Given the description of an element on the screen output the (x, y) to click on. 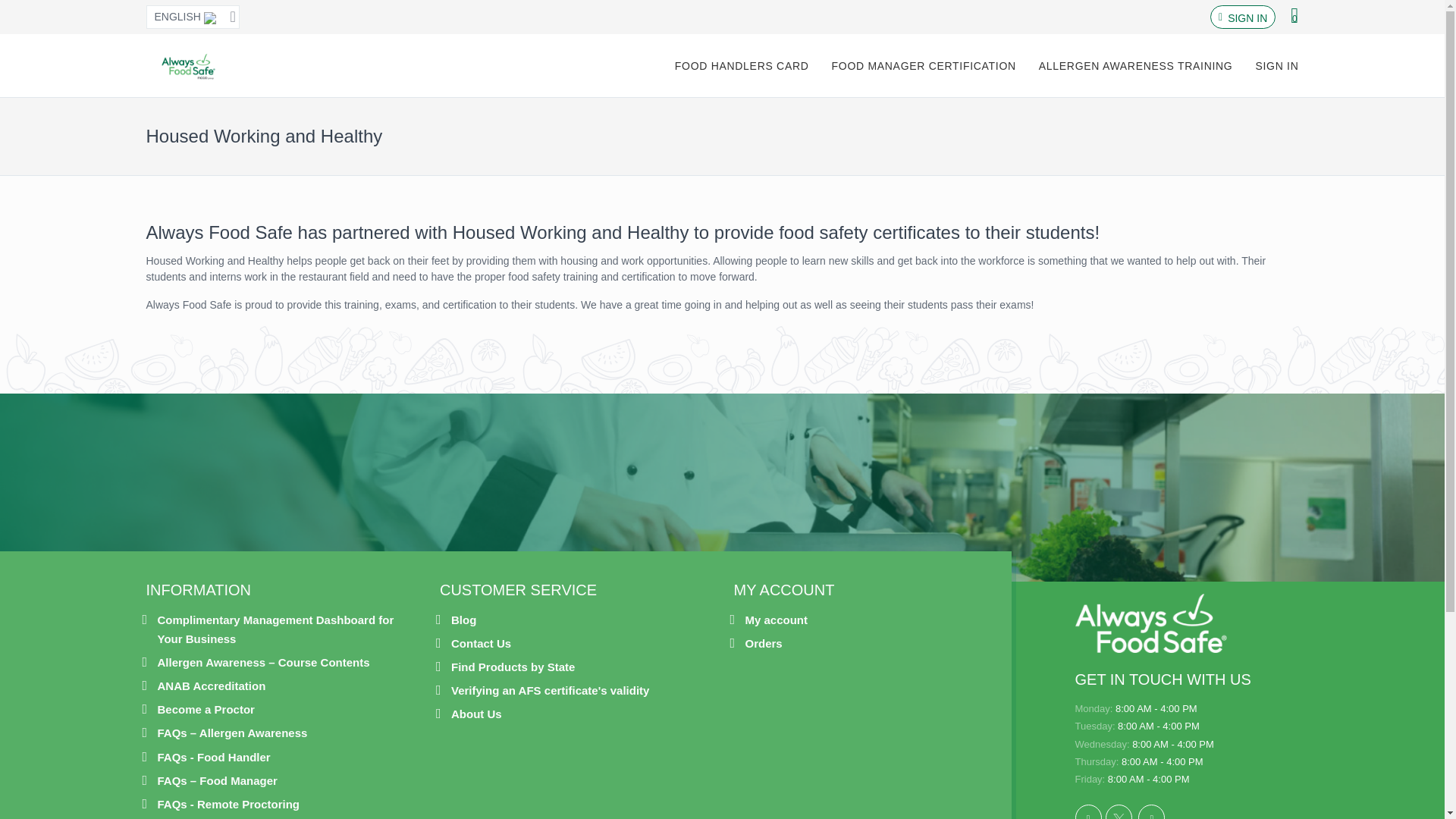
Contact Us (481, 642)
SIGN IN (1246, 18)
ALLERGEN AWARENESS TRAINING (1135, 65)
FAQs - Food Handler (213, 756)
Complimentary Management Dashboard for Your Business (286, 629)
FOOD HANDLERS CARD (742, 65)
My account (776, 619)
Become a Proctor (205, 709)
Verifying an AFS certificate's validity (550, 690)
About Us (476, 713)
